Given the description of an element on the screen output the (x, y) to click on. 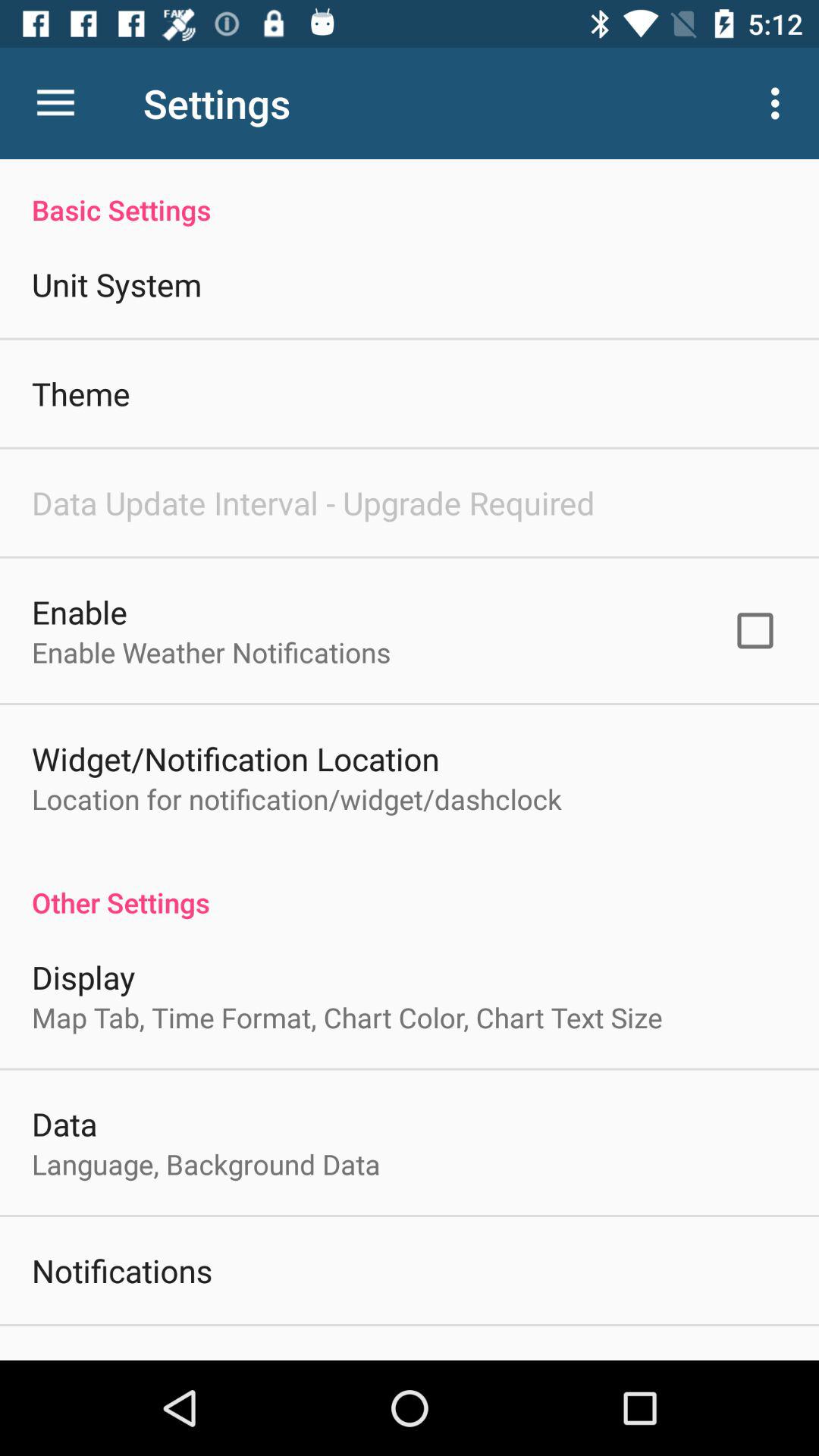
scroll until the language, background data (205, 1164)
